Given the description of an element on the screen output the (x, y) to click on. 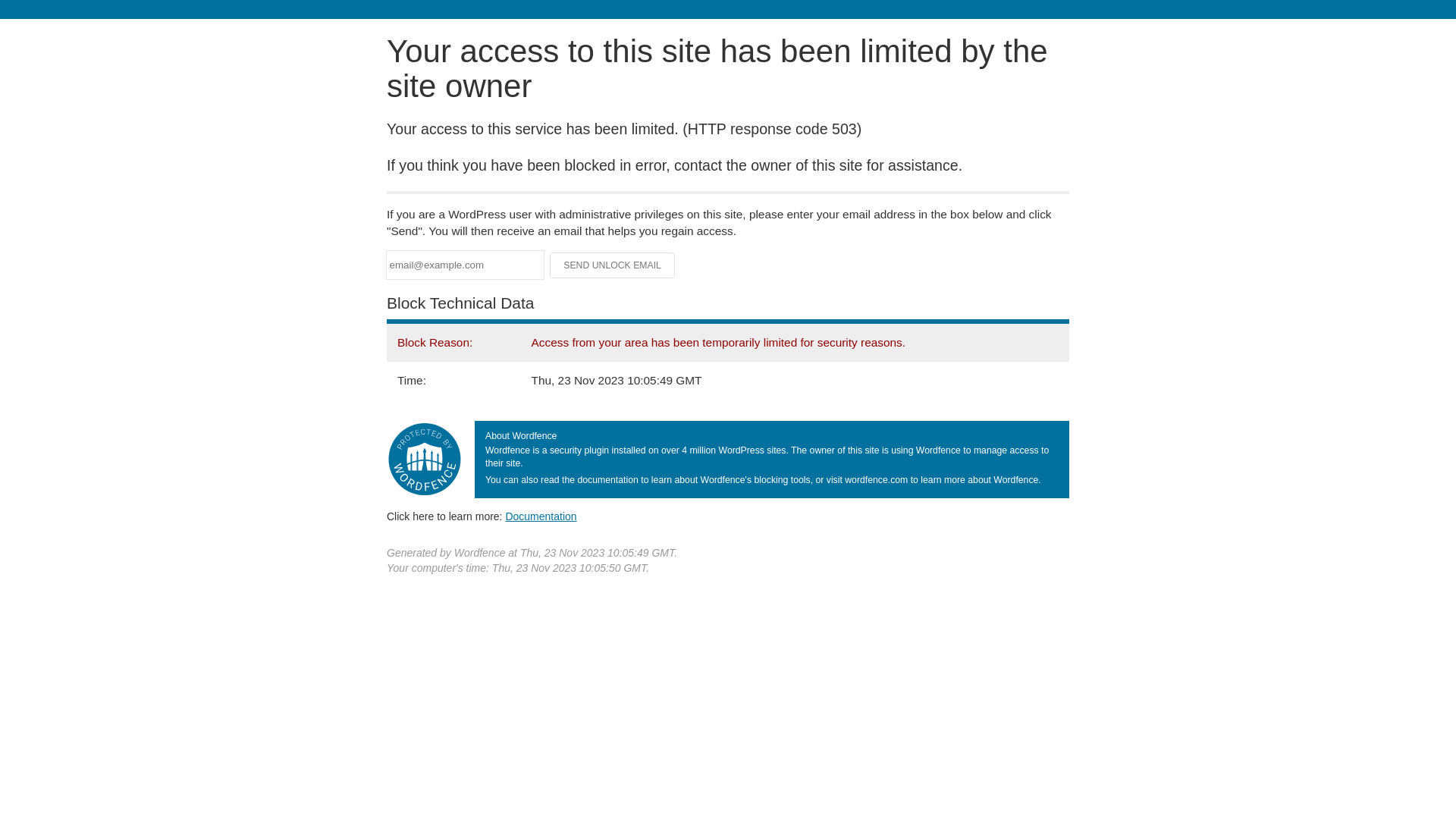
Documentation Element type: text (540, 516)
Send Unlock Email Element type: text (612, 265)
